Given the description of an element on the screen output the (x, y) to click on. 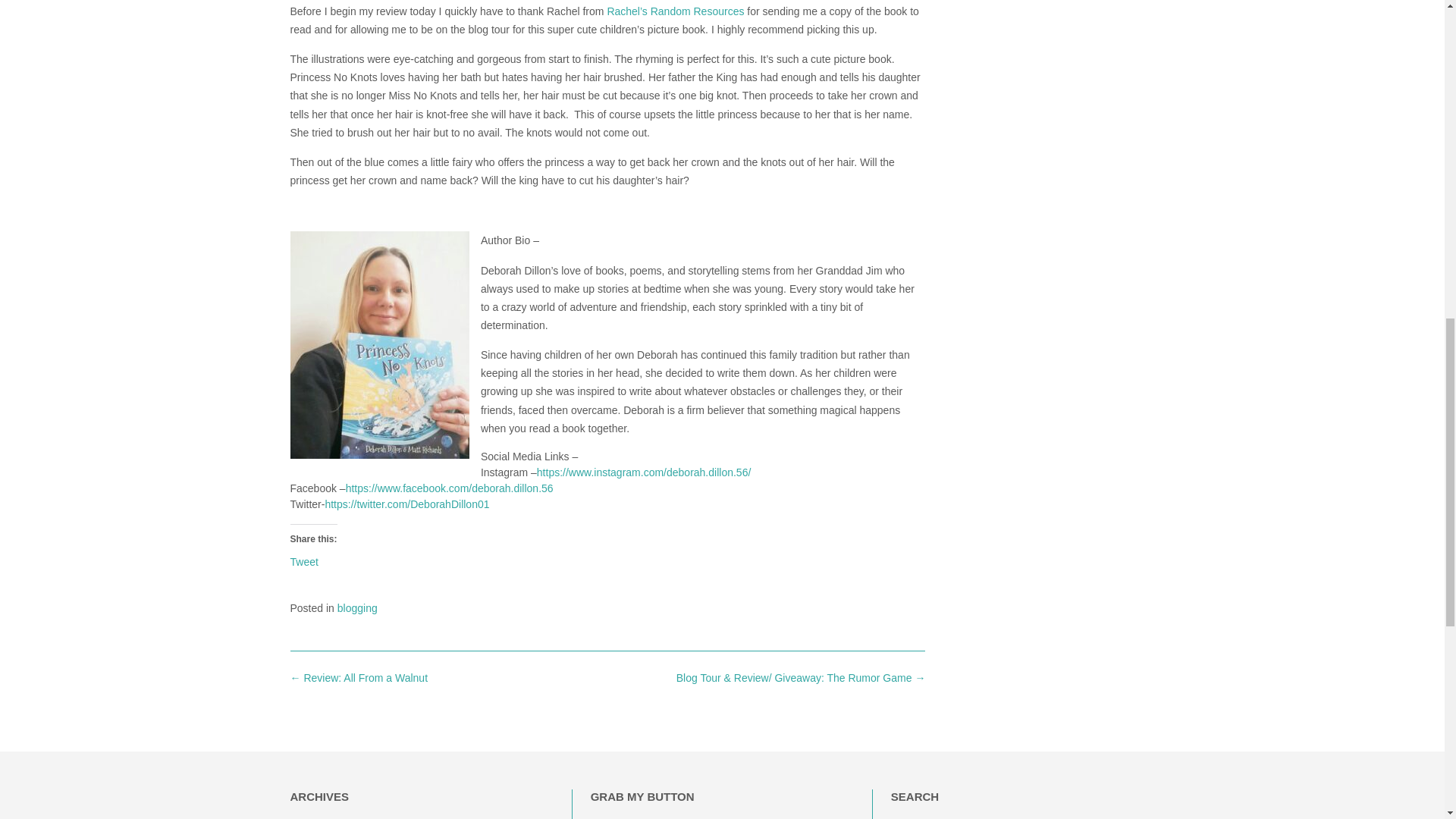
Tweet (303, 561)
blogging (357, 607)
